Given the description of an element on the screen output the (x, y) to click on. 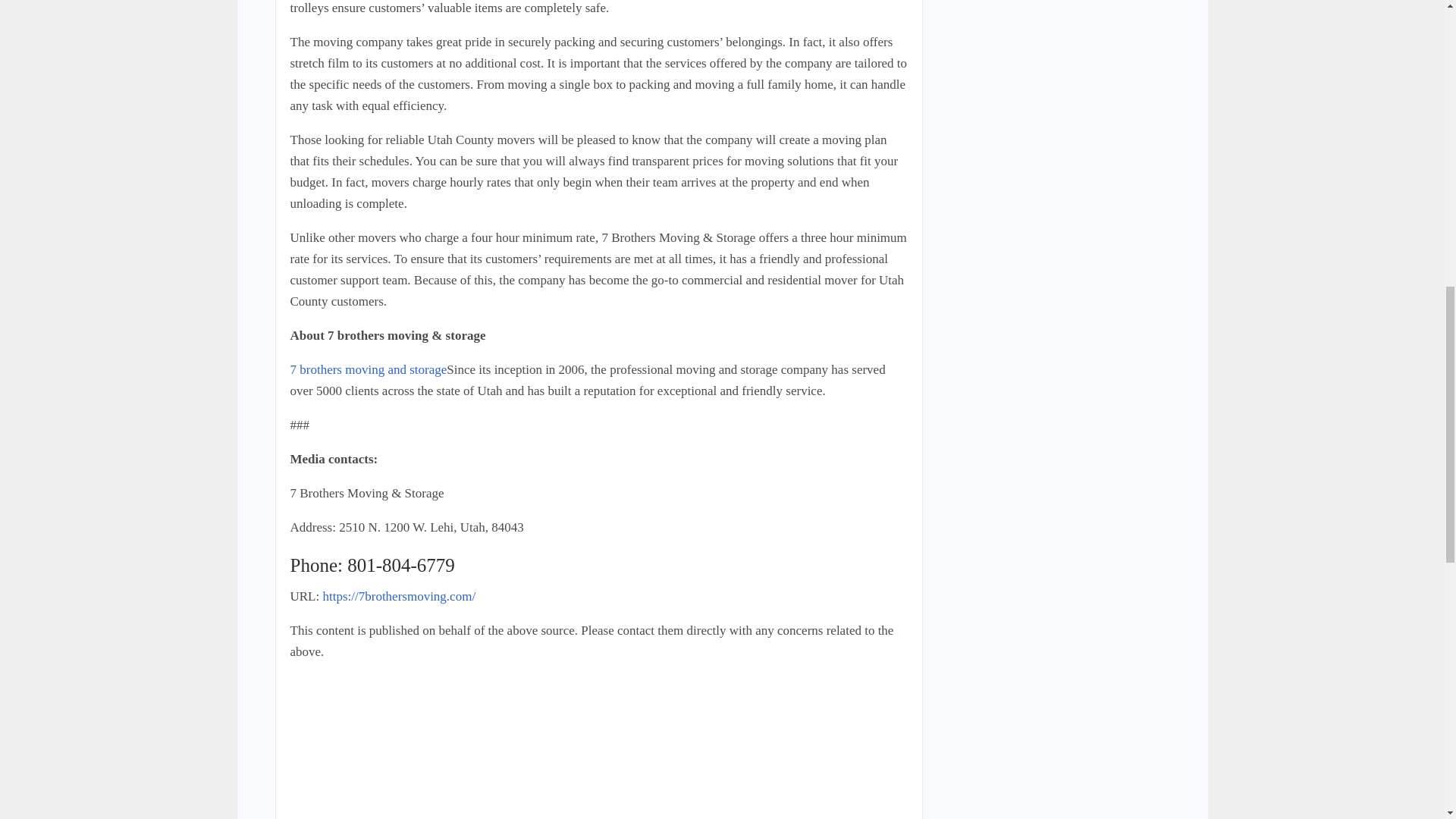
7 brothers moving and storage (367, 369)
